Given the description of an element on the screen output the (x, y) to click on. 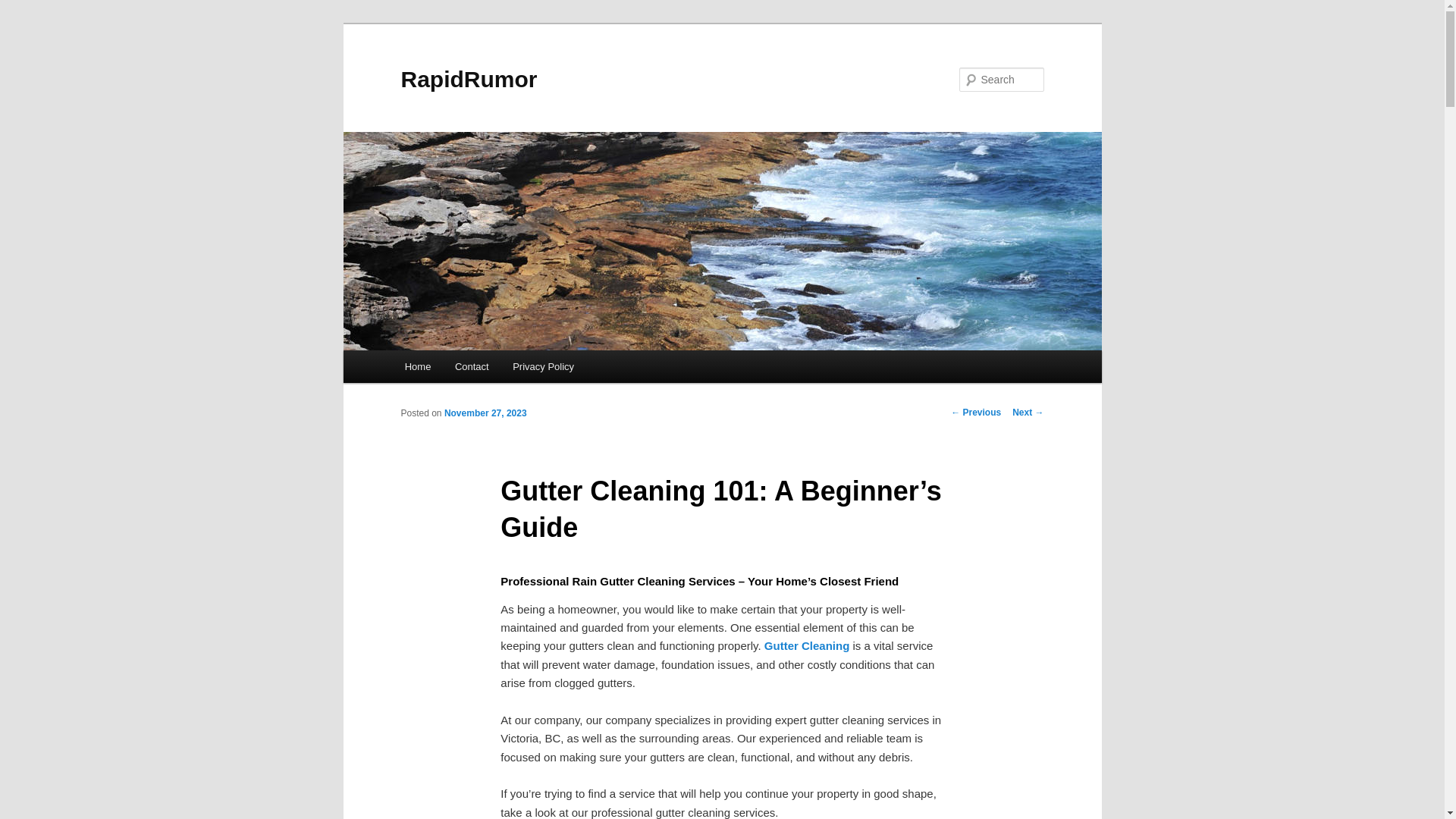
Privacy Policy (542, 366)
November 27, 2023 (485, 412)
Home (417, 366)
12:00 am (485, 412)
Gutter Cleaning (807, 645)
Contact (471, 366)
RapidRumor (468, 78)
Search (24, 8)
